Given the description of an element on the screen output the (x, y) to click on. 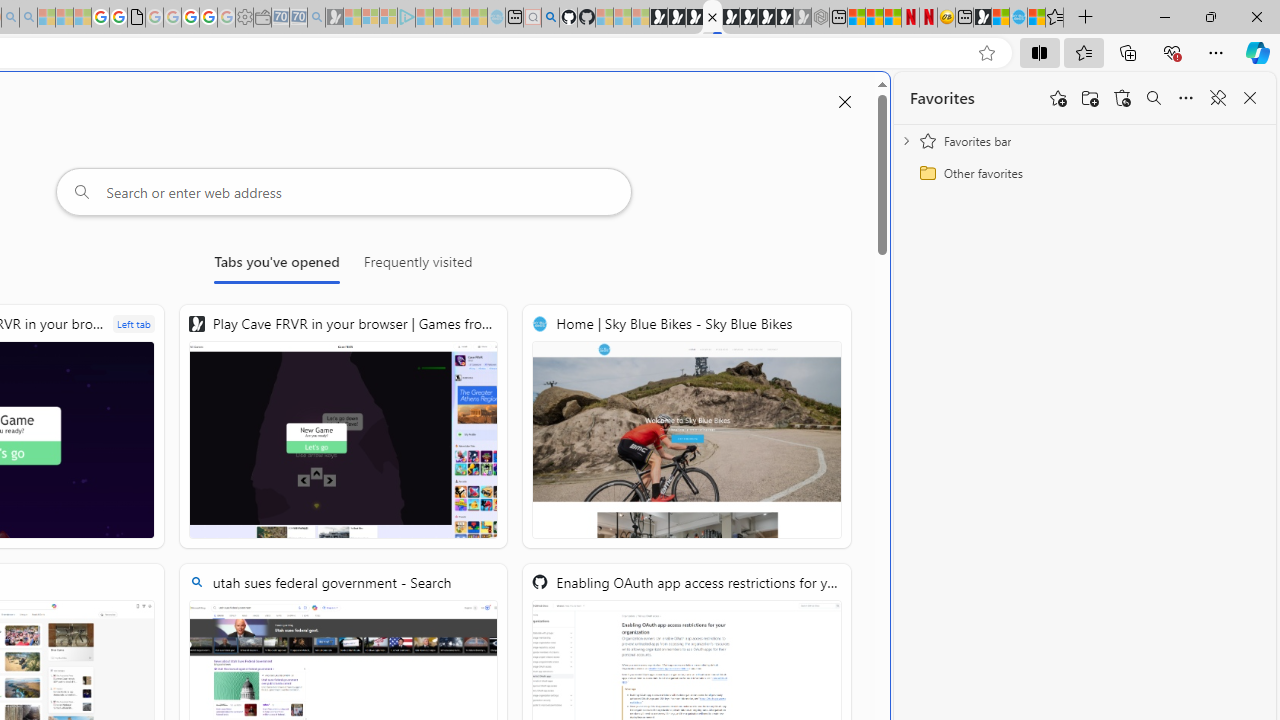
Tabs you've opened (276, 265)
Search favorites (1153, 98)
